Given the description of an element on the screen output the (x, y) to click on. 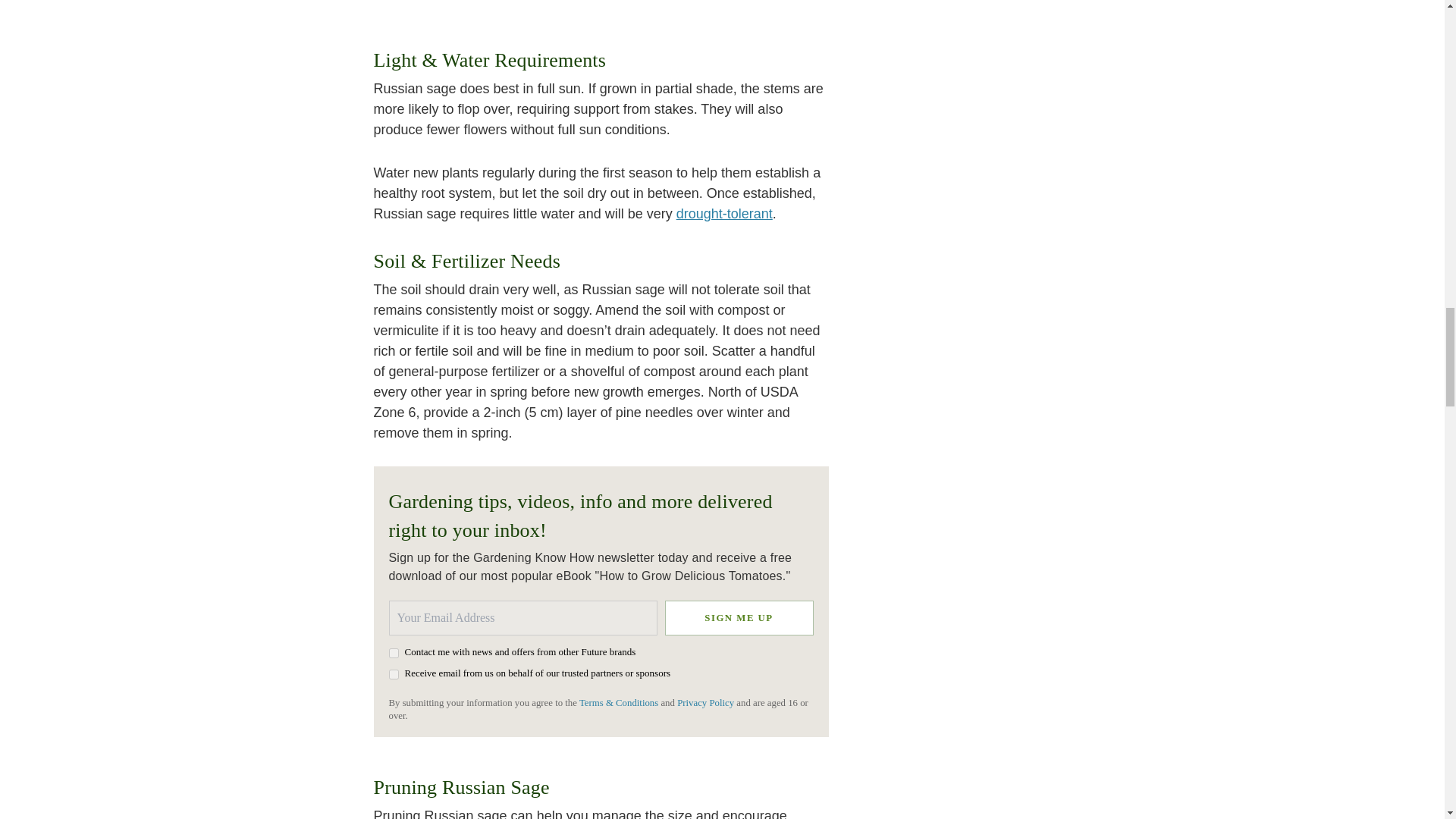
Sign me up (737, 617)
on (392, 674)
on (392, 653)
